Given the description of an element on the screen output the (x, y) to click on. 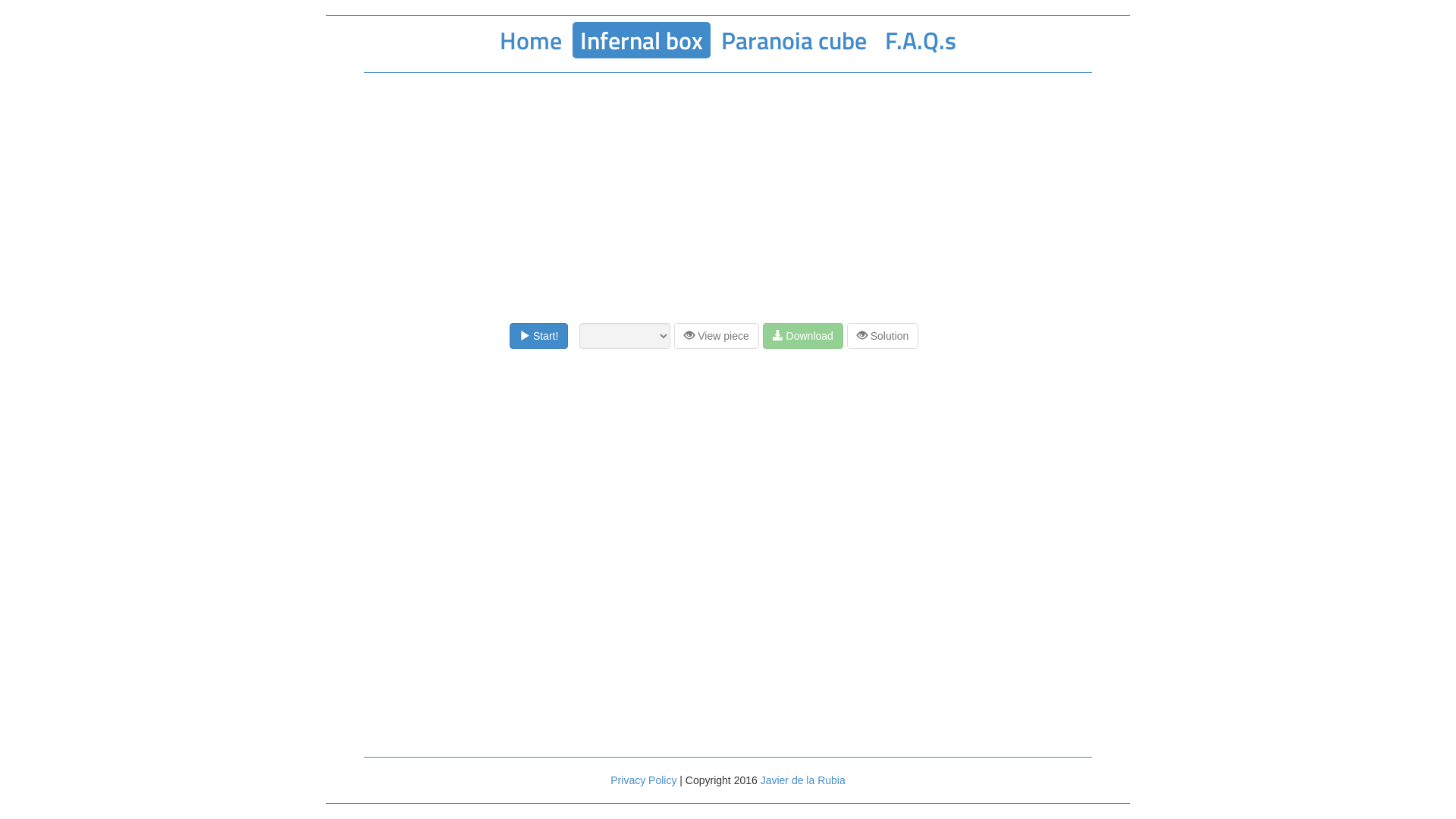
Infernal box Element type: text (641, 39)
F.A.Q.s Element type: text (920, 39)
Start! Element type: text (538, 335)
Home Element type: text (530, 39)
Solution Element type: text (882, 335)
Download Element type: text (802, 335)
View piece Element type: text (716, 335)
Paranoia cube Element type: text (793, 39)
Privacy Policy Element type: text (643, 780)
Javier de la Rubia Element type: text (802, 780)
